Given the description of an element on the screen output the (x, y) to click on. 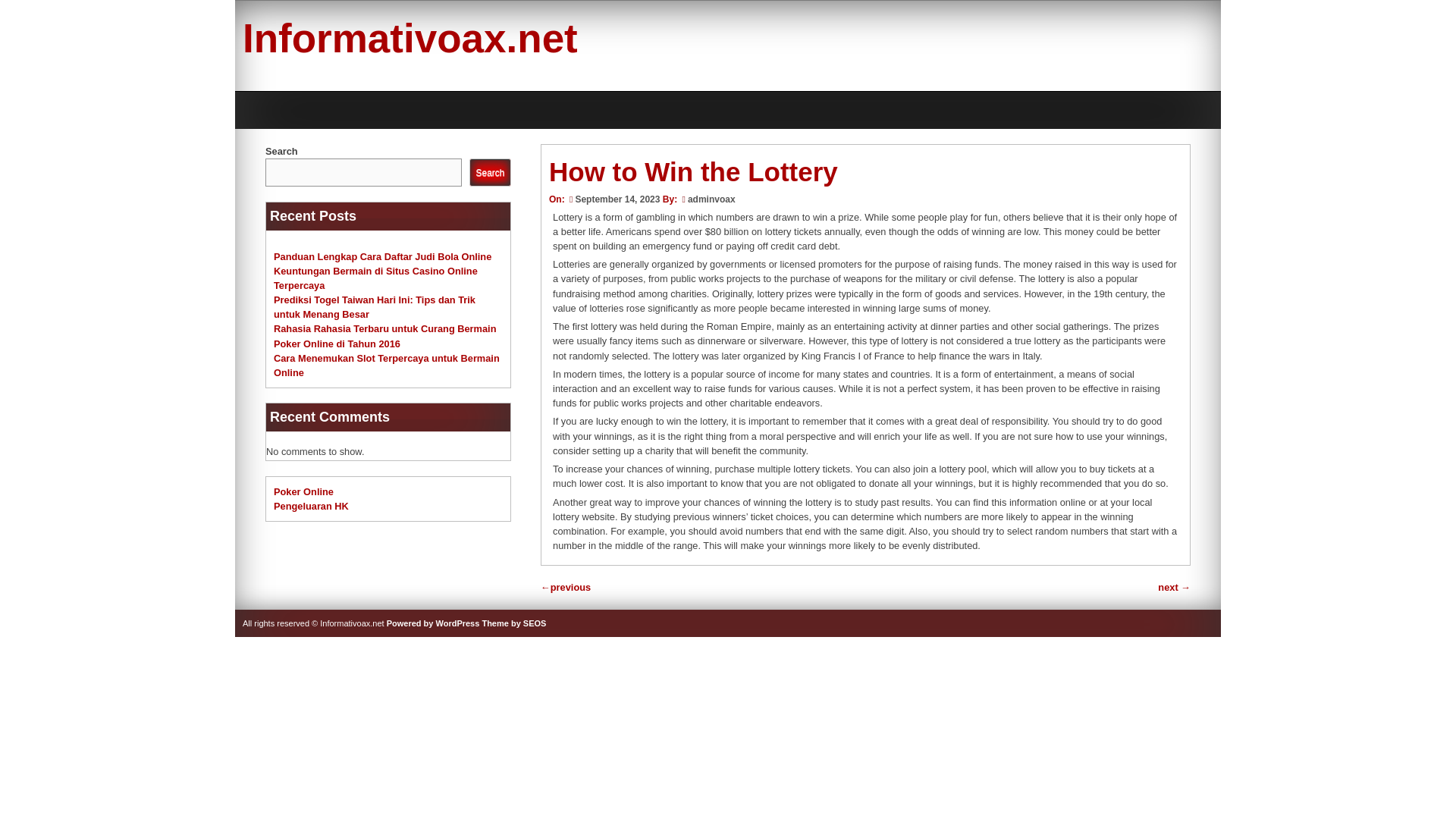
adminvoax (711, 199)
Keuntungan Bermain di Situs Casino Online Terpercaya (375, 278)
Cara Menemukan Slot Terpercaya untuk Bermain Online (386, 365)
Powered by WordPress (433, 623)
Panduan Lengkap Cara Daftar Judi Bola Online (382, 255)
Seos free wordpress themes (513, 623)
Theme by SEOS (513, 623)
Informativoax.net (410, 37)
Poker Online (303, 491)
Search (489, 172)
Pengeluaran HK (311, 505)
September 14, 2023 (613, 199)
